Given the description of an element on the screen output the (x, y) to click on. 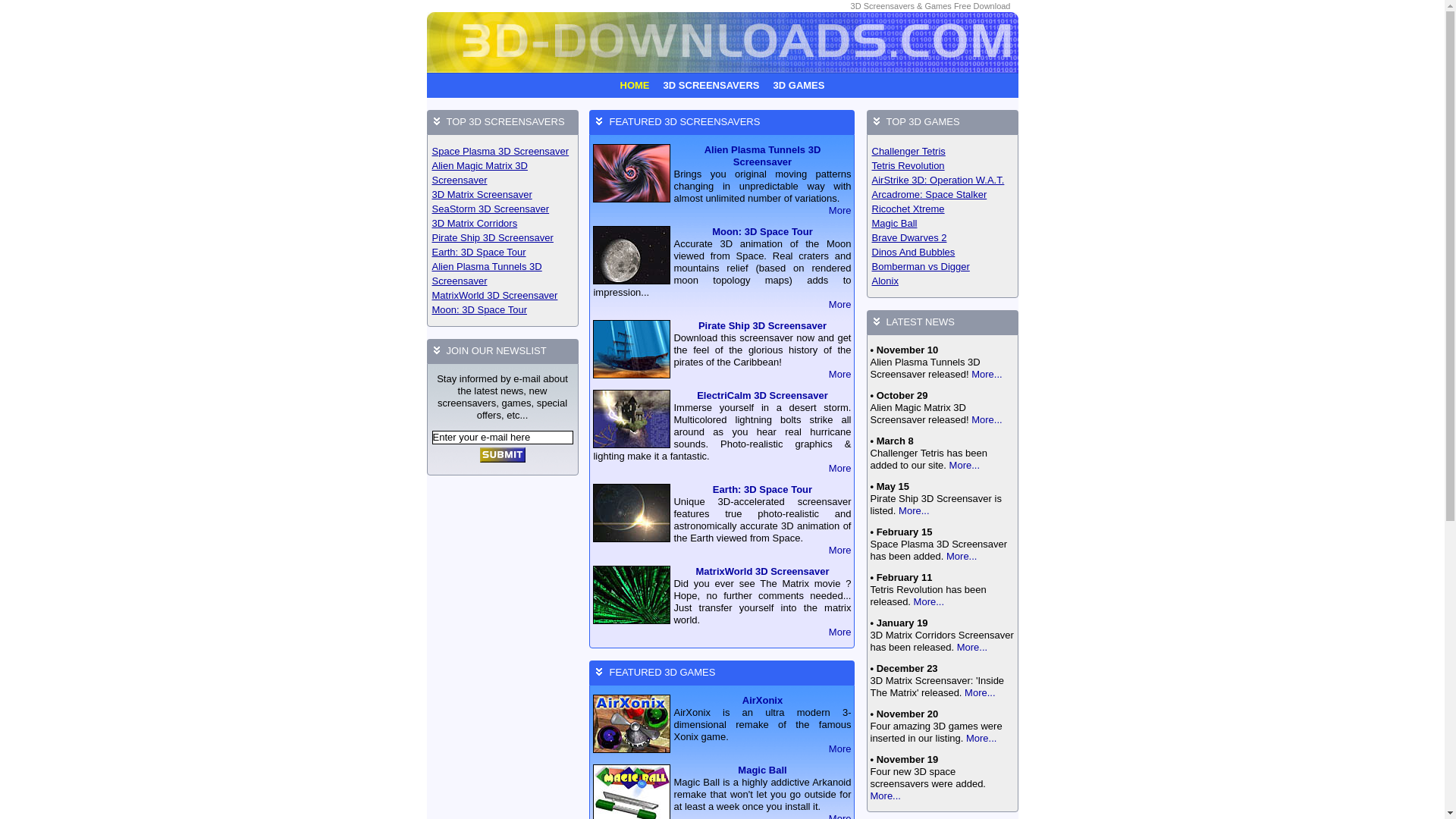
More Element type: text (839, 748)
Dinos And Bubbles Element type: text (943, 251)
Bomberman vs Digger Element type: text (943, 266)
Tetris Revolution Element type: text (943, 165)
More Element type: text (839, 373)
Alonix Element type: text (943, 280)
Magic Ball Element type: text (761, 769)
More... Element type: text (911, 510)
More... Element type: text (885, 795)
3D Matrix Corridors Element type: text (503, 223)
ElectriCalm 3D Screensaver Element type: text (762, 395)
More... Element type: text (962, 464)
More Element type: text (839, 210)
More Element type: text (839, 631)
More... Element type: text (927, 601)
Alien Plasma Tunnels 3D Screensaver Element type: text (503, 273)
AirStrike 3D: Operation W.A.T. Element type: text (943, 179)
Moon: 3D Space Tour Element type: text (762, 231)
Earth: 3D Space Tour Element type: text (762, 489)
AirXonix Element type: text (762, 700)
More... Element type: text (970, 646)
More... Element type: text (985, 373)
Challenger Tetris Element type: text (943, 151)
More... Element type: text (985, 419)
More Element type: text (839, 304)
3D Matrix Screensaver Element type: text (503, 194)
Arcadrome: Space Stalker Element type: text (943, 194)
More... Element type: text (979, 737)
SeaStorm 3D Screensaver Element type: text (503, 208)
More Element type: text (839, 467)
Earth: 3D Space Tour Element type: text (503, 251)
More... Element type: text (959, 555)
MatrixWorld 3D Screensaver Element type: text (503, 295)
More Element type: text (839, 549)
MatrixWorld 3D Screensaver Element type: text (761, 571)
More... Element type: text (977, 692)
Moon: 3D Space Tour Element type: text (503, 309)
Magic Ball Element type: text (943, 223)
Alien Plasma Tunnels 3D Screensaver Element type: text (762, 155)
3D SCREENSAVERS Element type: text (711, 85)
Ricochet Xtreme Element type: text (943, 208)
Space Plasma 3D Screensaver Element type: text (503, 151)
Pirate Ship 3D Screensaver Element type: text (762, 325)
3D GAMES Element type: text (799, 85)
Brave Dwarves 2 Element type: text (943, 237)
Pirate Ship 3D Screensaver Element type: text (503, 237)
Alien Magic Matrix 3D Screensaver Element type: text (503, 172)
